Given the description of an element on the screen output the (x, y) to click on. 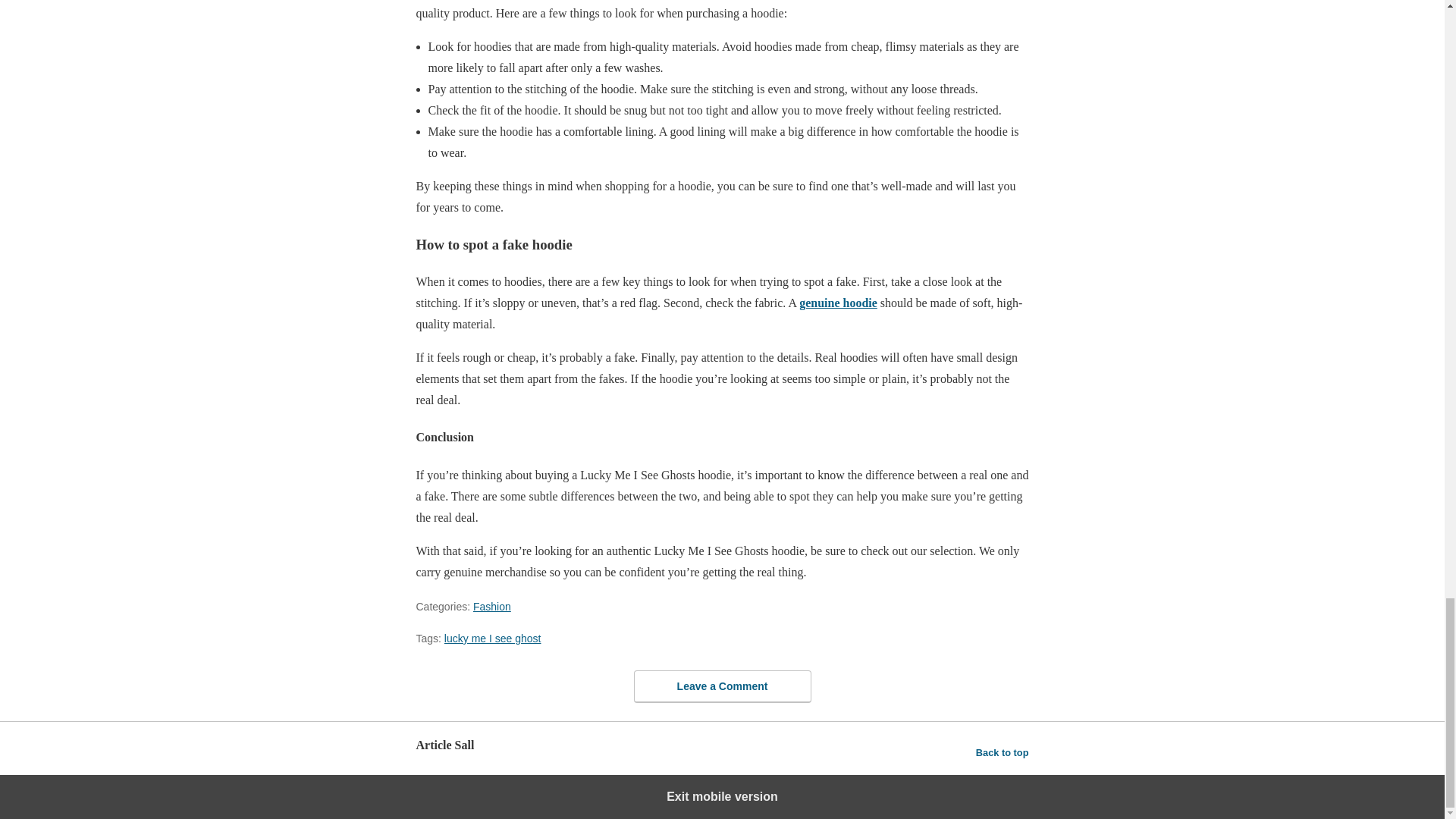
genuine hoodie (838, 302)
Back to top (1002, 752)
Leave a Comment (721, 686)
Fashion (492, 606)
lucky me I see ghost (492, 638)
